Given the description of an element on the screen output the (x, y) to click on. 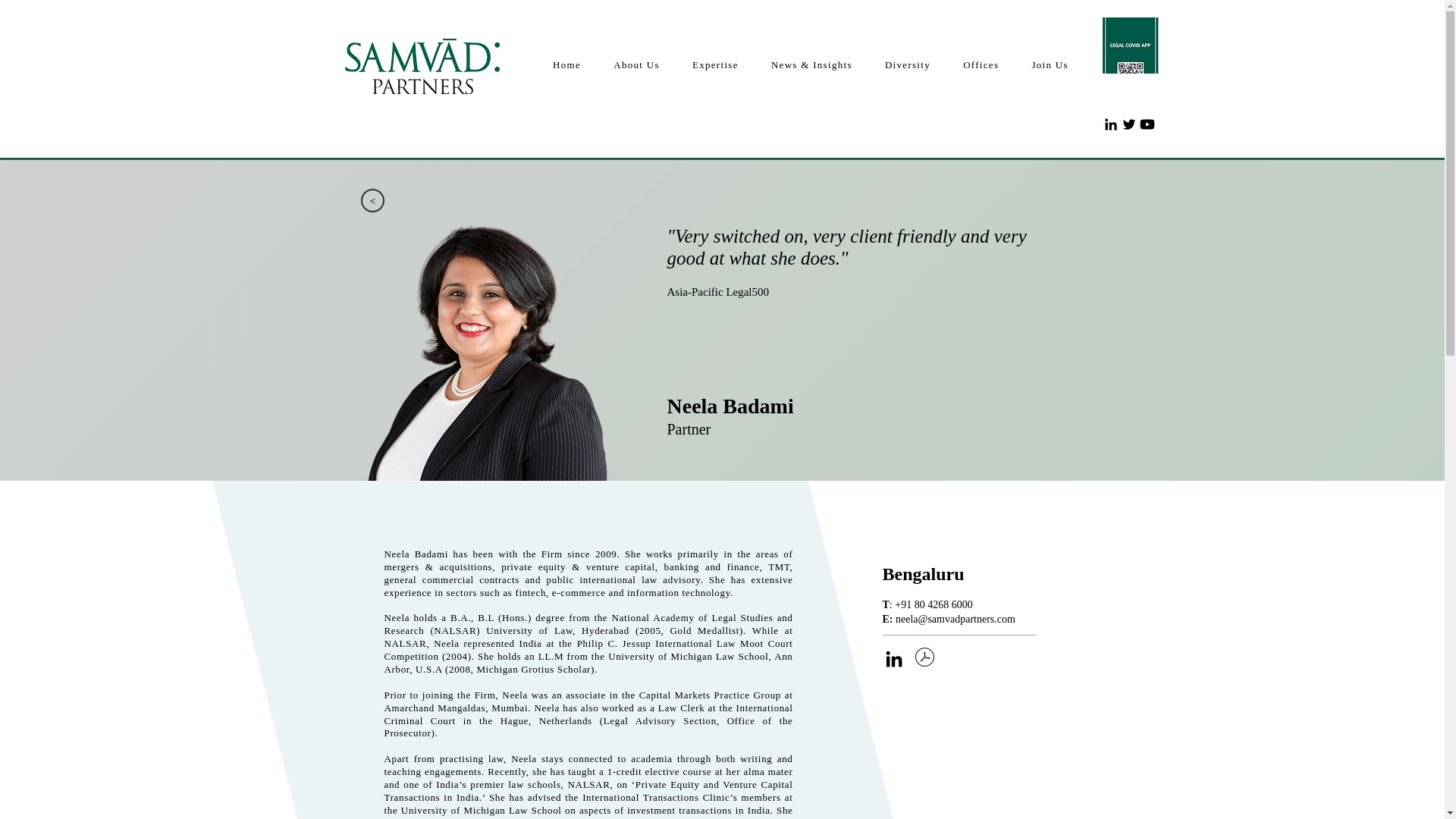
Site Search (999, 124)
Diversity (906, 65)
Expertise (714, 65)
Home (567, 65)
Offices (980, 65)
